Given the description of an element on the screen output the (x, y) to click on. 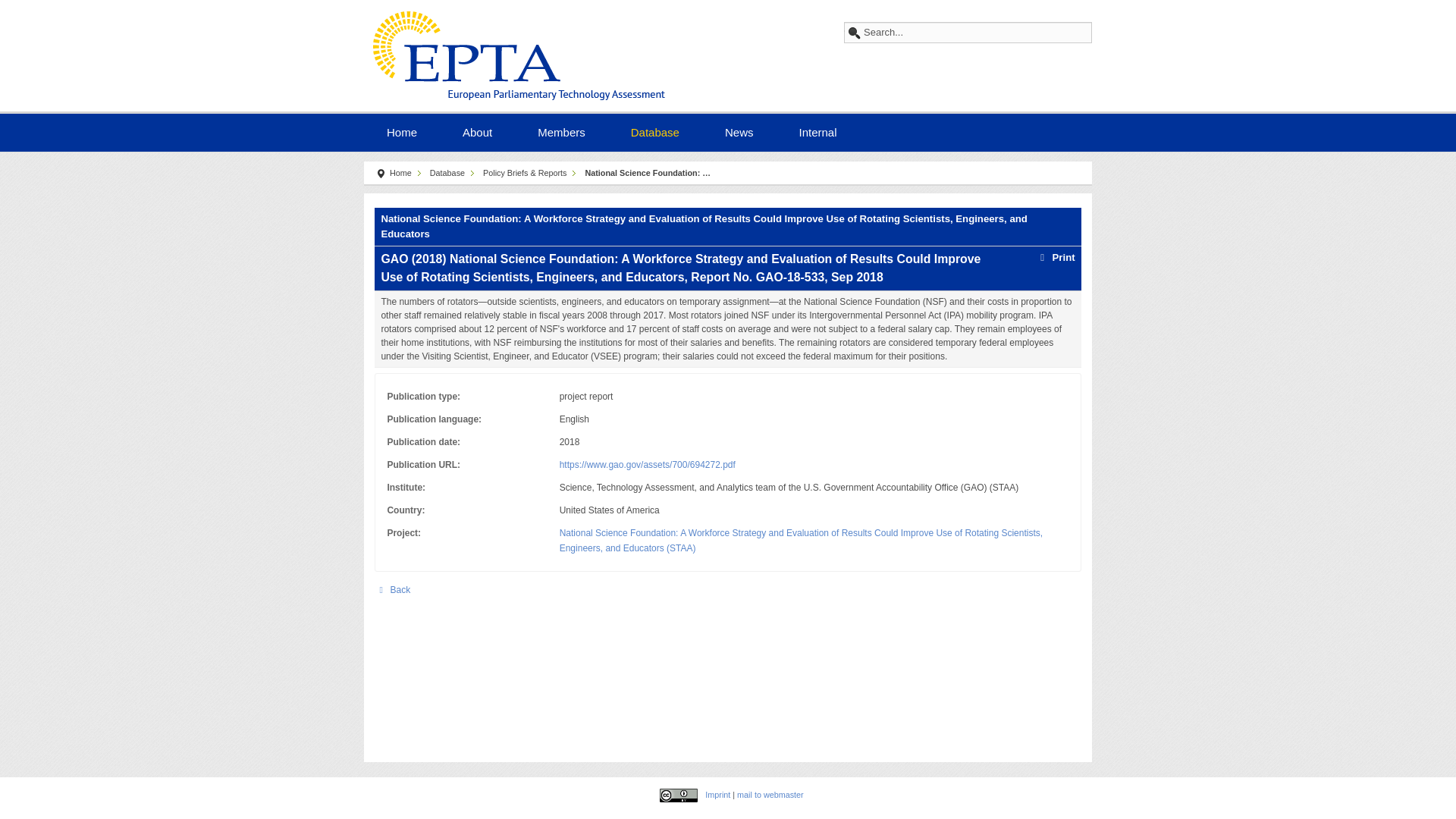
Print (1054, 256)
You are here:  (380, 173)
Search... (968, 32)
Database (654, 131)
Back (392, 590)
About (477, 131)
Members (561, 131)
Home (401, 131)
Search... (968, 32)
